Given the description of an element on the screen output the (x, y) to click on. 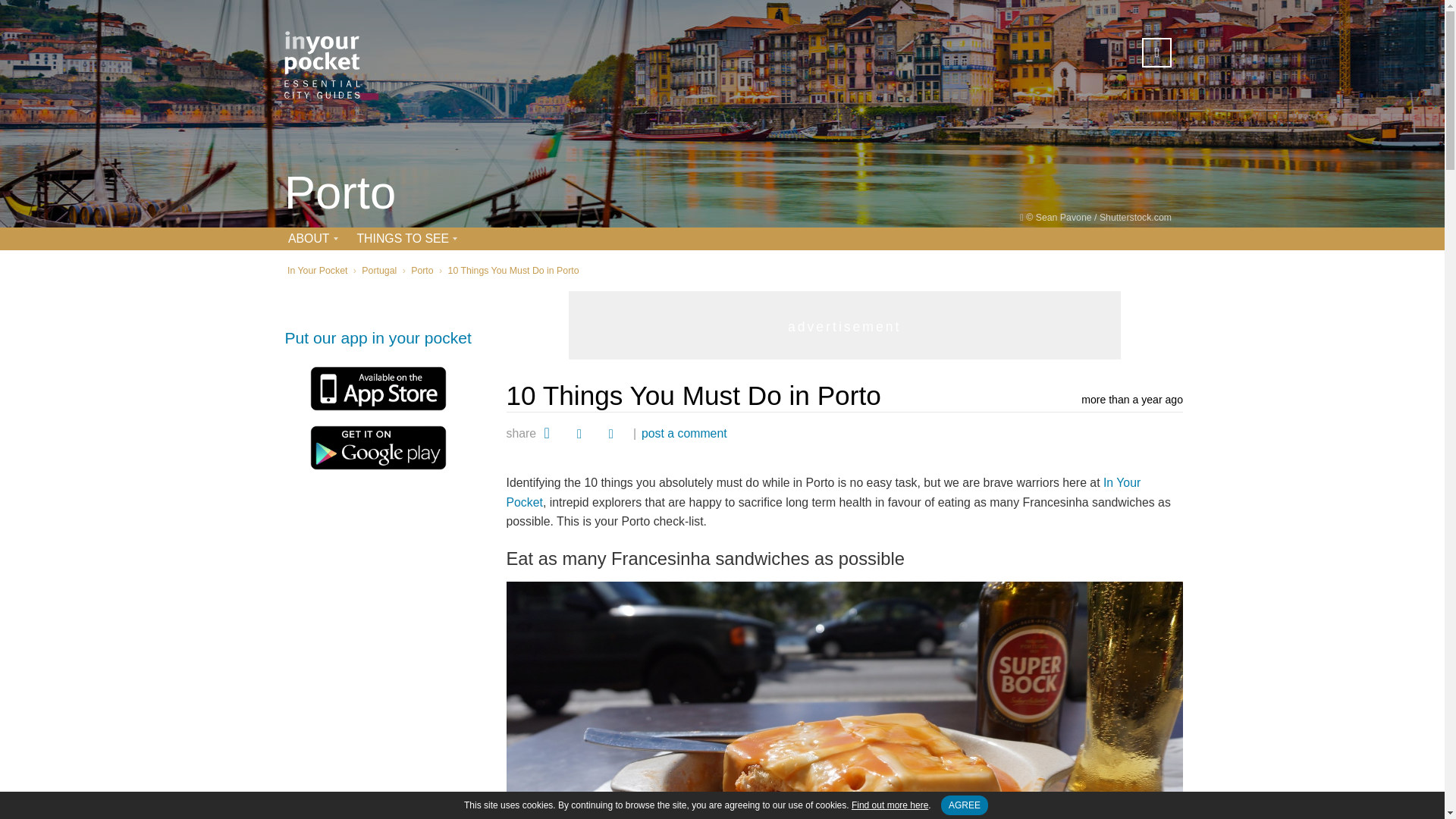
In Your Pocket (823, 491)
Find out more here (889, 805)
Porto (339, 194)
Porto (421, 270)
Shutterstock.com (1135, 217)
In Your Pocket (316, 270)
post a comment (684, 433)
10 Things You Must Do in Porto (513, 270)
post a comment (684, 433)
Portugal (378, 270)
